Given the description of an element on the screen output the (x, y) to click on. 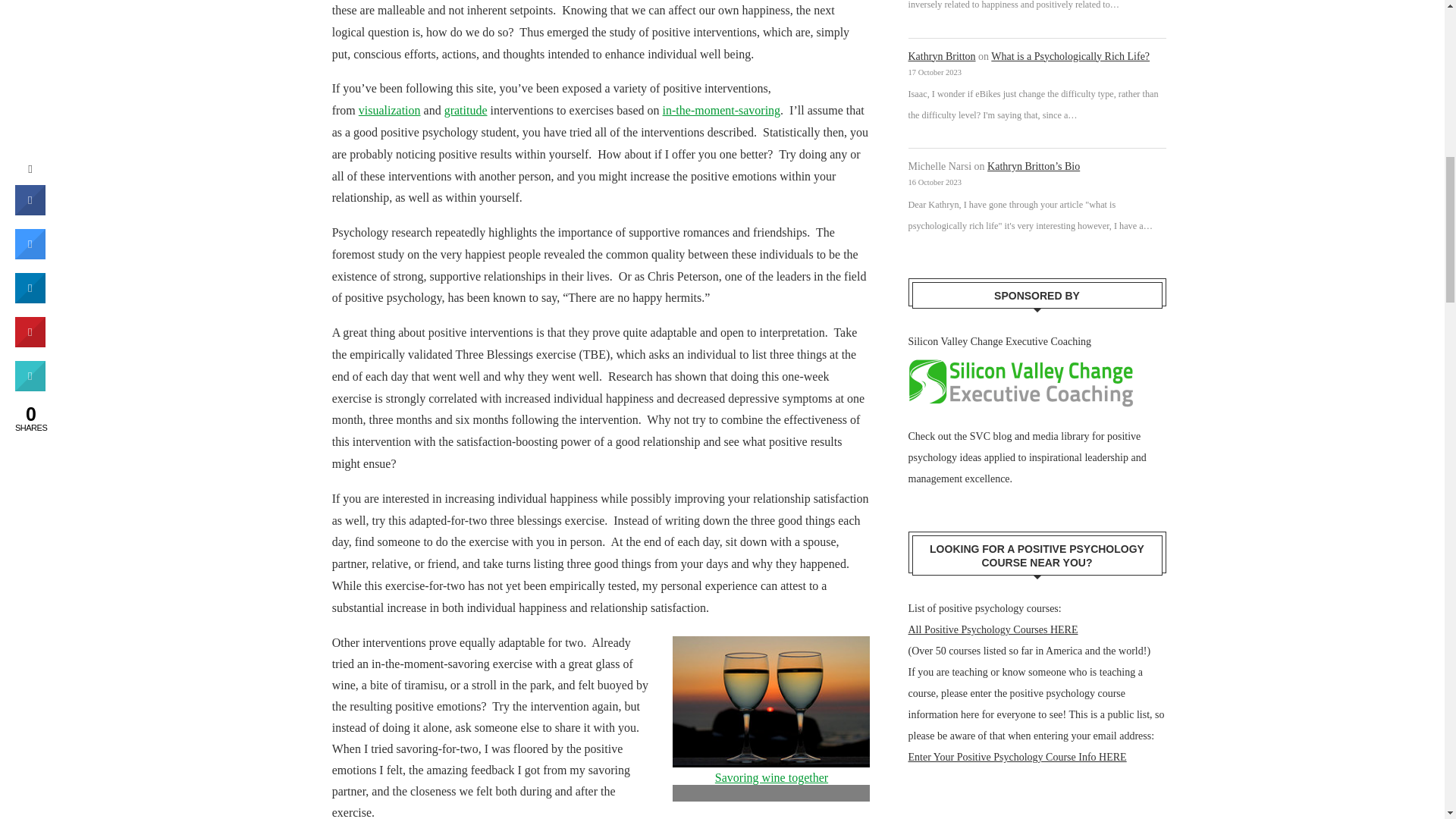
visualization (389, 110)
in-the-moment-savoring (721, 110)
gratitude (465, 110)
